Given the description of an element on the screen output the (x, y) to click on. 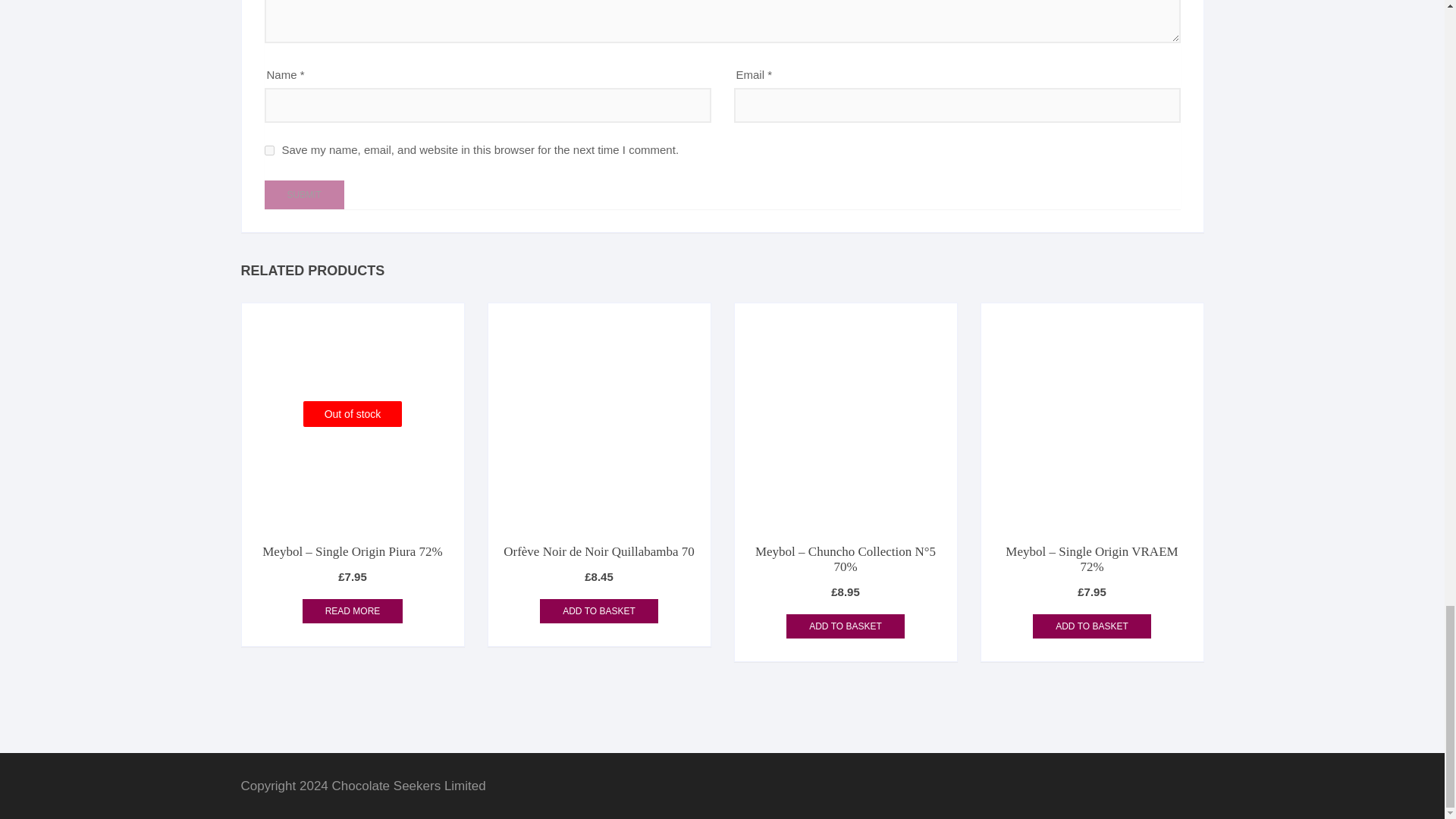
yes (268, 150)
Submit (303, 194)
